Given the description of an element on the screen output the (x, y) to click on. 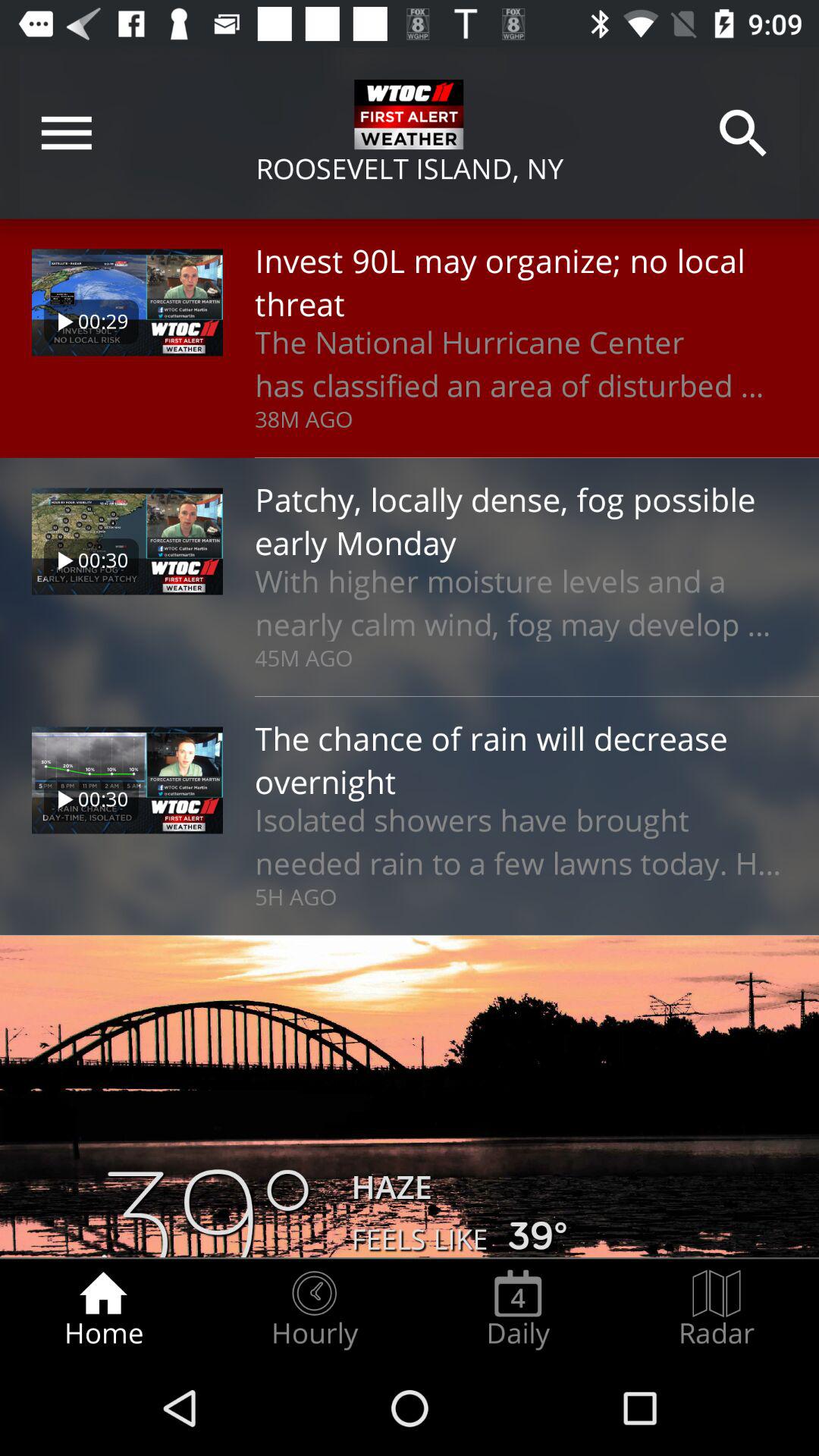
press the home icon (103, 1309)
